Given the description of an element on the screen output the (x, y) to click on. 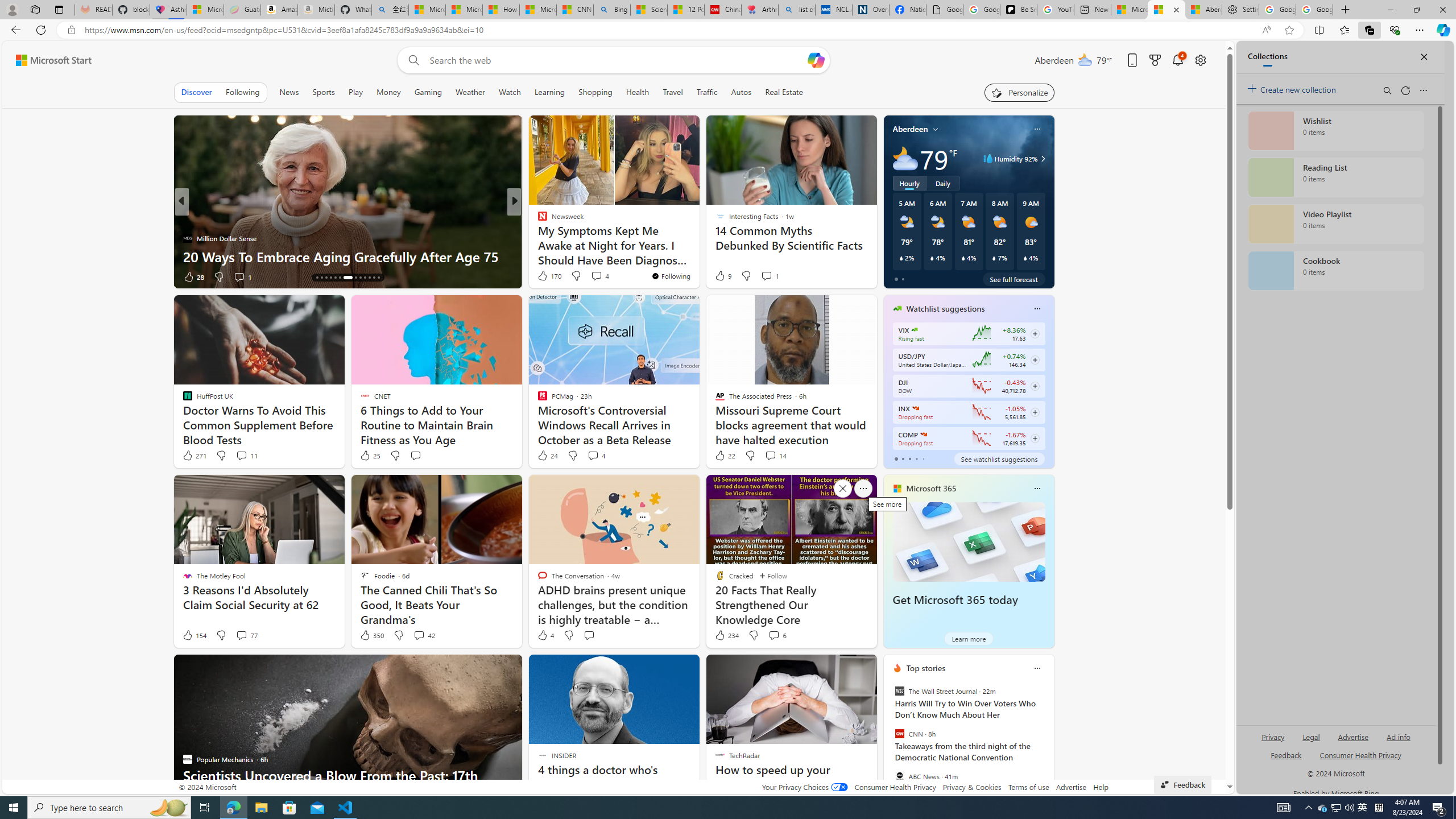
Get Microsoft 365 today (968, 541)
170 Like (548, 275)
Watchlist suggestions (945, 308)
104 Like (194, 276)
CBOE Market Volatility Index (914, 329)
View comments 231 Comment (588, 276)
236 Like (545, 276)
Pocket-lint (537, 238)
